Given the description of an element on the screen output the (x, y) to click on. 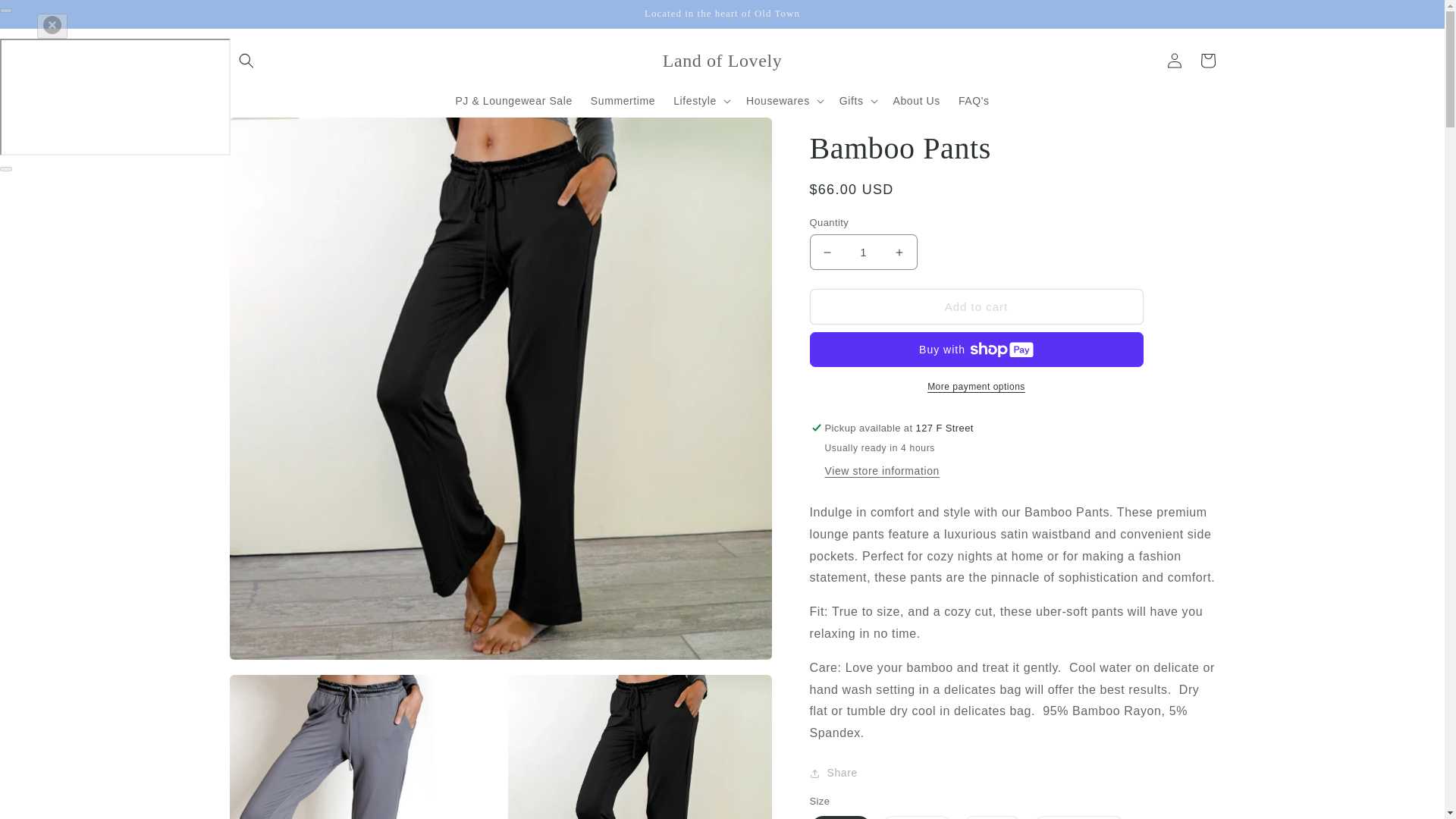
1 (863, 252)
Skip to content (45, 17)
Land of Lovely (721, 60)
Summertime (621, 101)
